Given the description of an element on the screen output the (x, y) to click on. 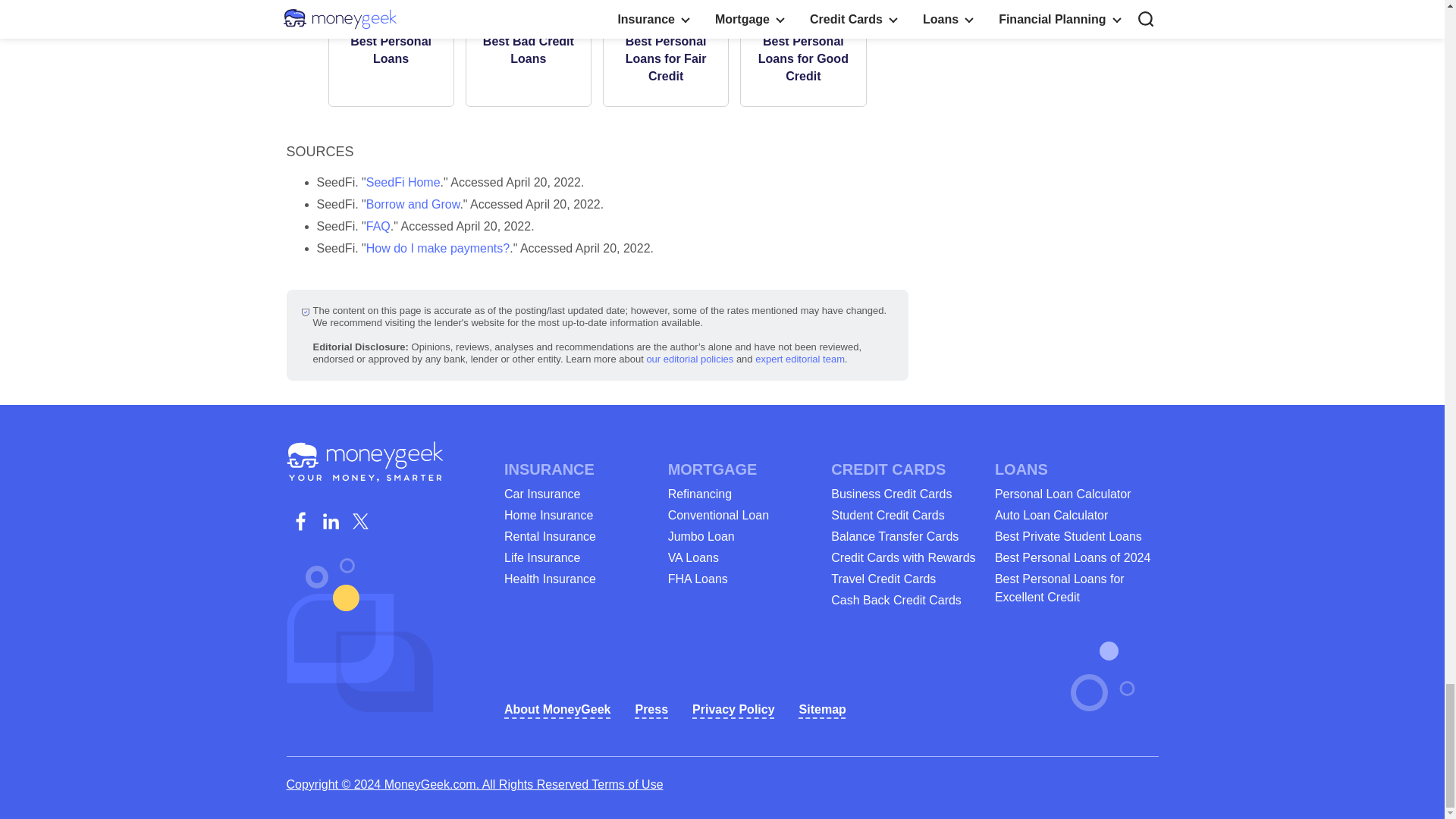
Best Bad Credit Loans (528, 49)
Best Personal Loans for Fair Credit (666, 58)
Best Personal Loans for Good Credit (802, 58)
Best Personal Loans (390, 49)
